Given the description of an element on the screen output the (x, y) to click on. 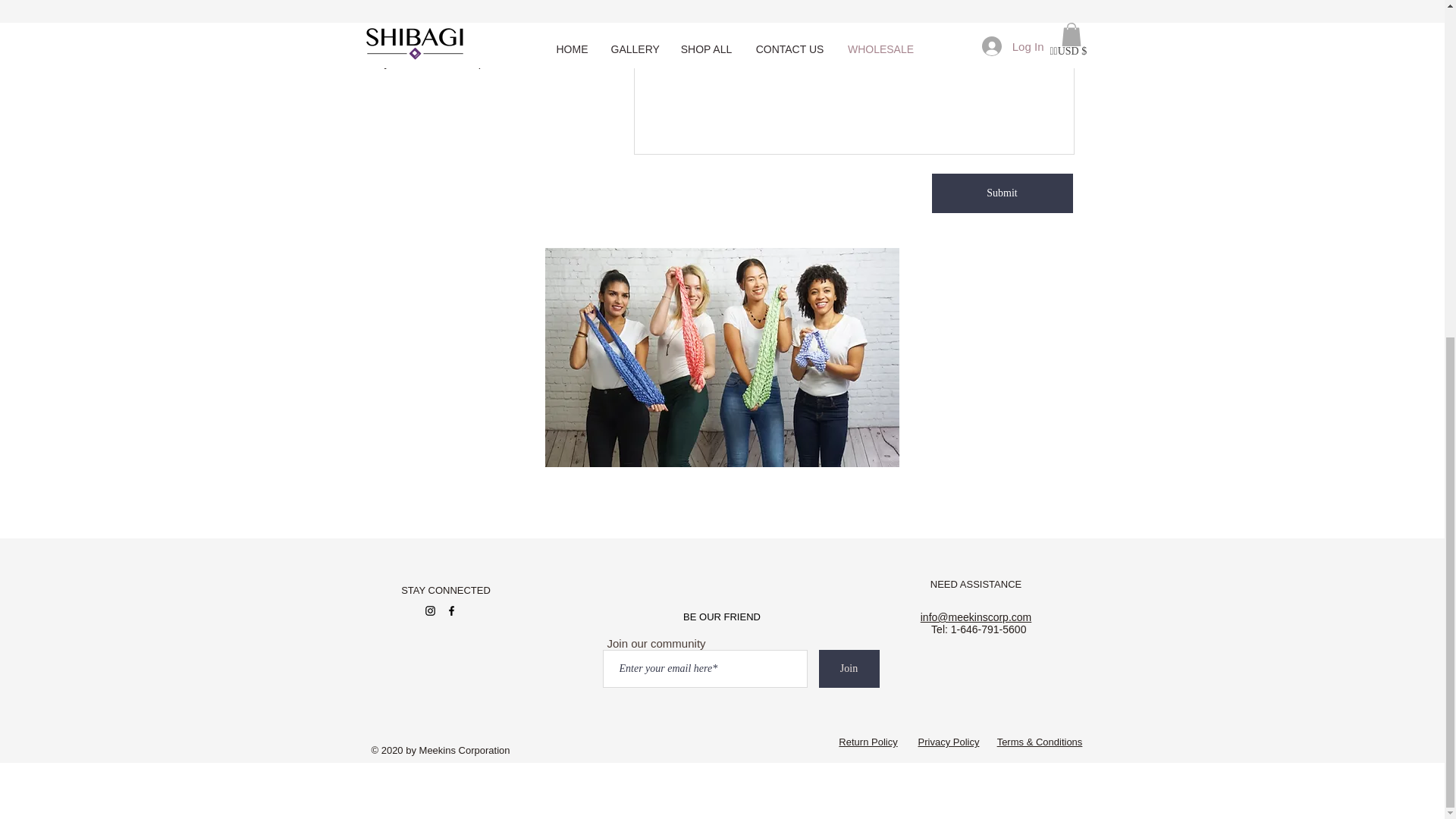
Return Policy (867, 741)
Privacy Policy (948, 741)
Submit (1001, 192)
Join (848, 668)
